Given the description of an element on the screen output the (x, y) to click on. 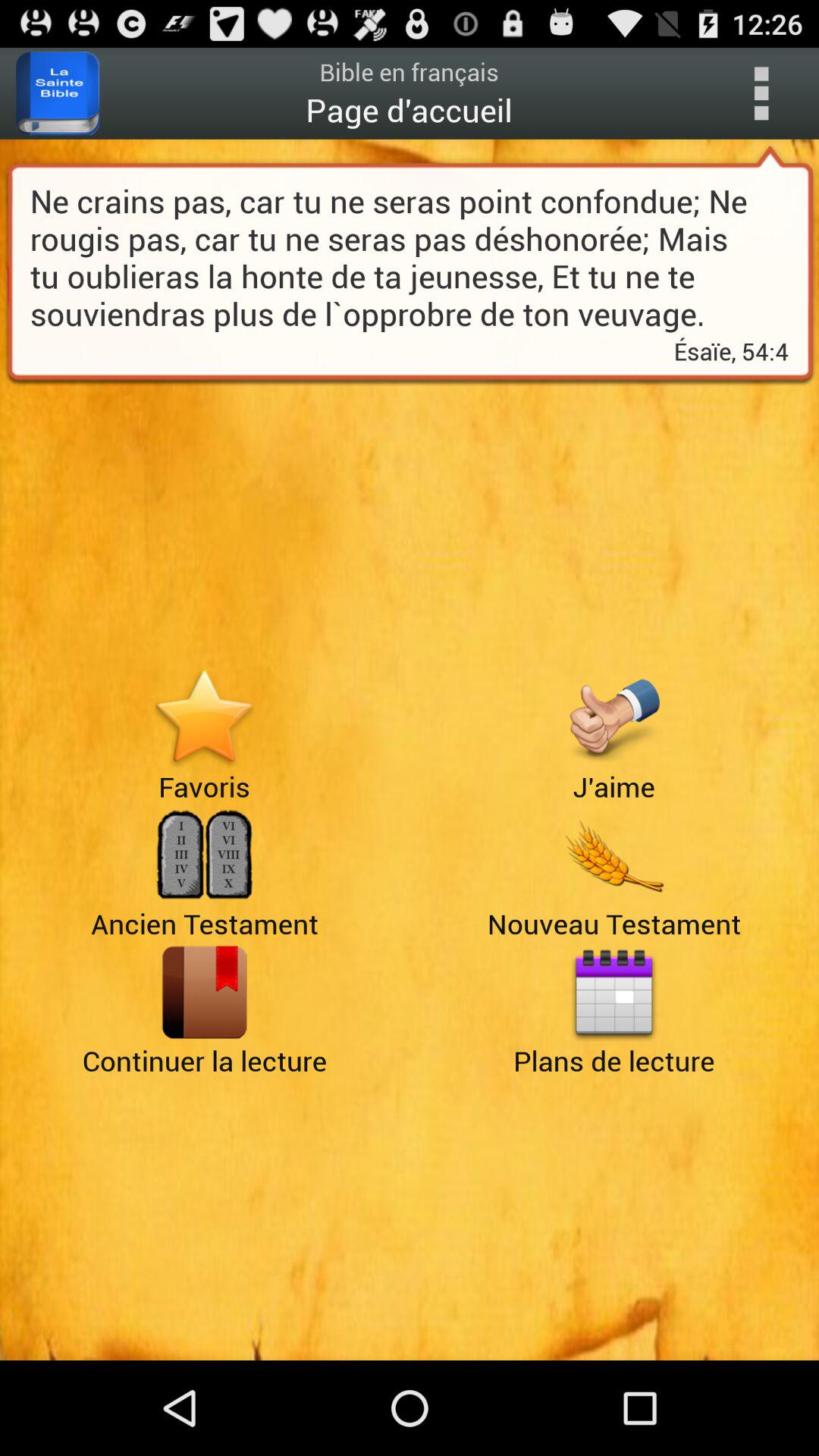
ancien testament (204, 854)
